Given the description of an element on the screen output the (x, y) to click on. 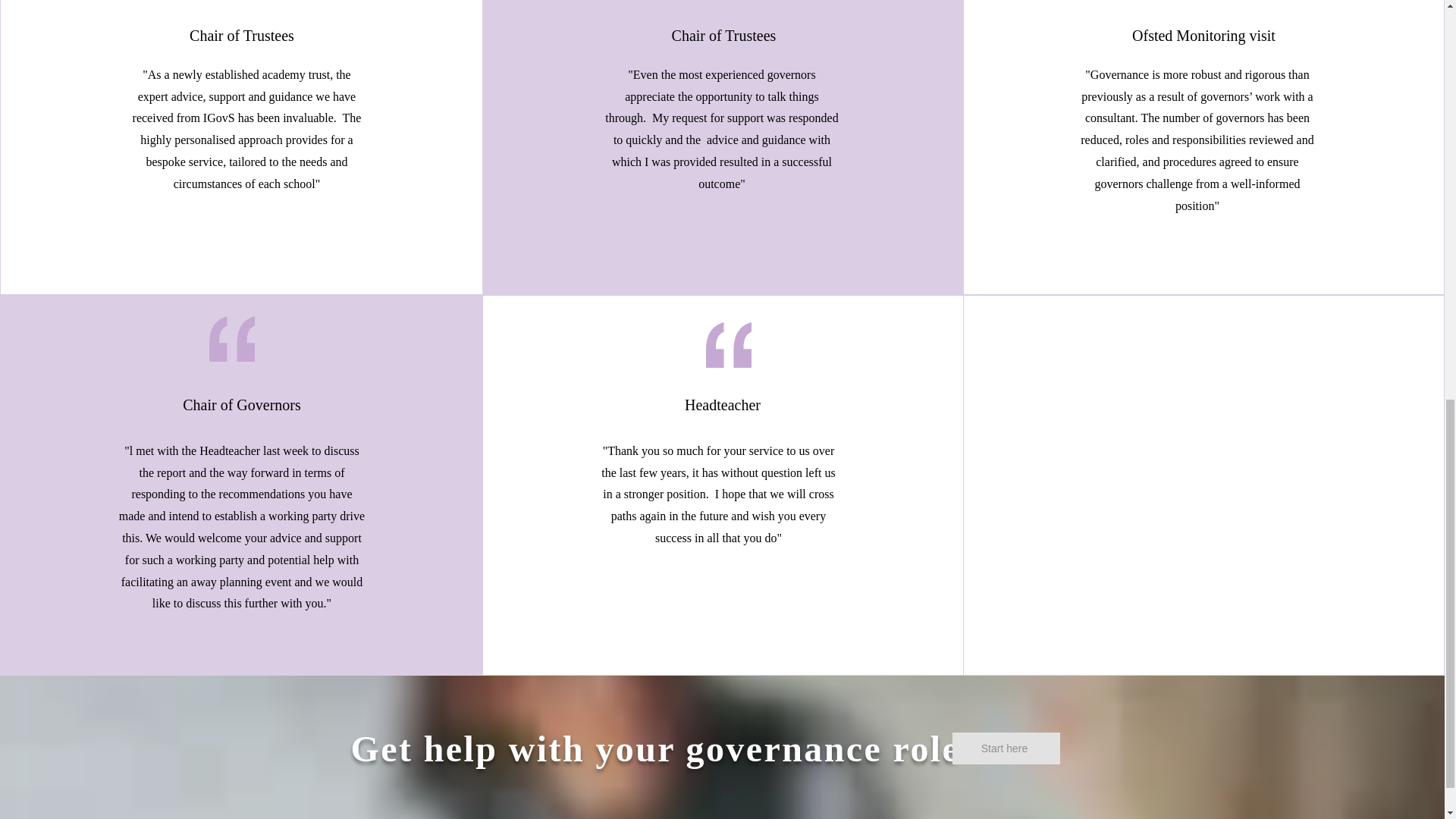
Start here (1005, 748)
